Given the description of an element on the screen output the (x, y) to click on. 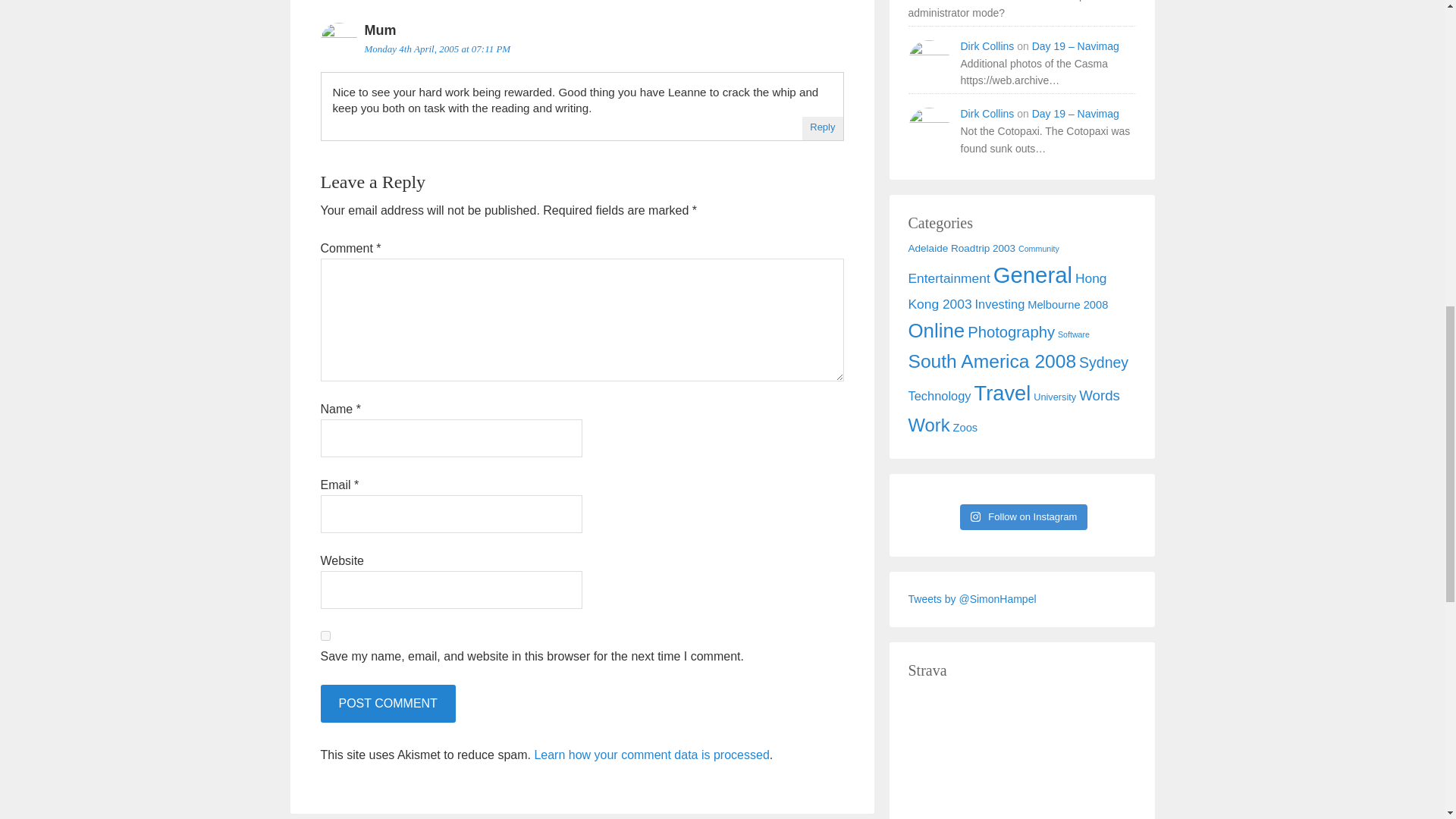
Learn how your comment data is processed (651, 754)
Monday 4th April, 2005 at 07:11 PM (437, 48)
Post Comment (387, 703)
Post Comment (387, 703)
yes (325, 635)
Reply (821, 126)
